Given the description of an element on the screen output the (x, y) to click on. 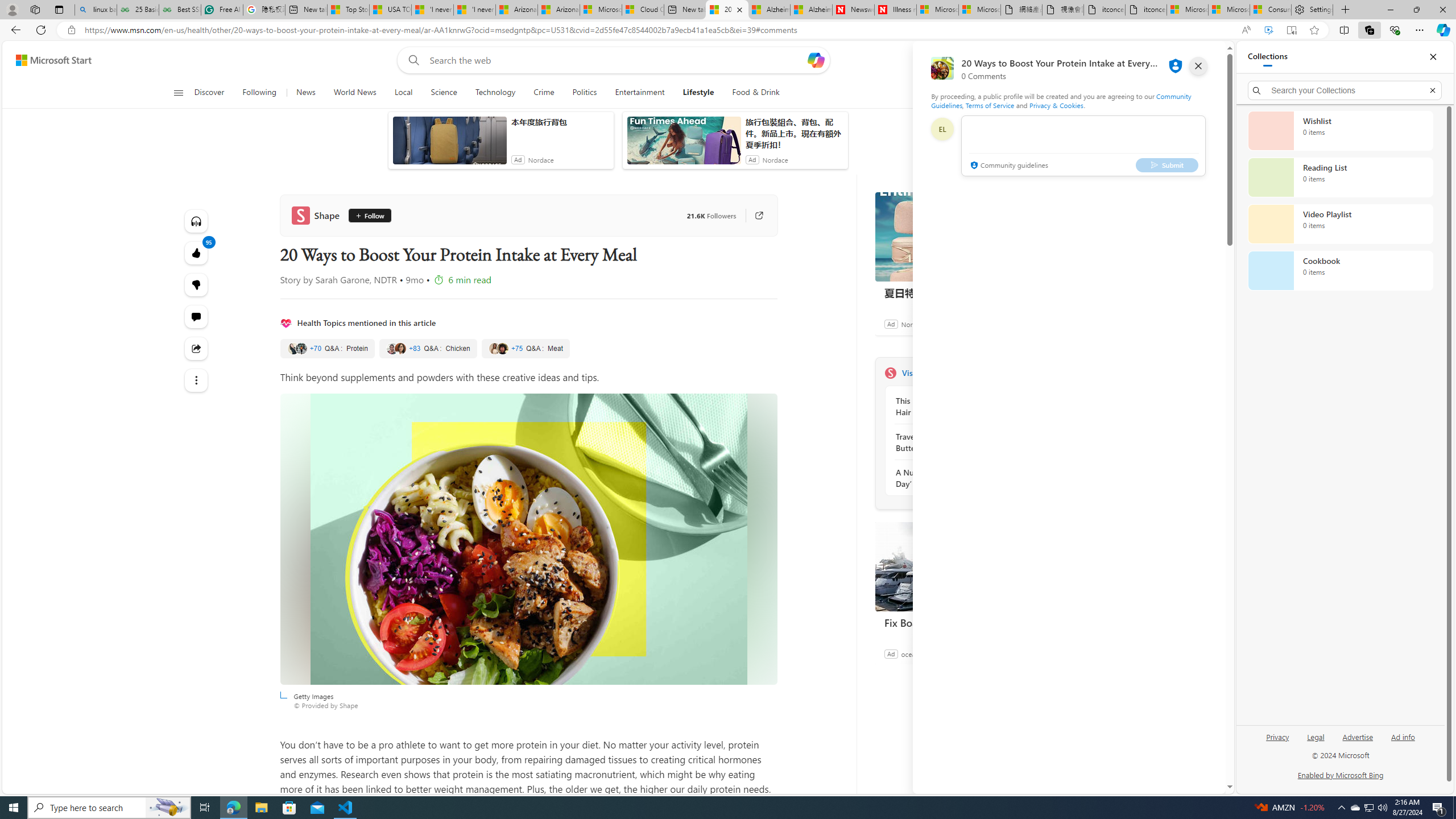
Share this story (196, 348)
Getty Images (528, 538)
Class: quote-thumbnail (502, 348)
Cookbook collection, 0 items (1339, 270)
Fix Boat Bliss (959, 622)
